Given the description of an element on the screen output the (x, y) to click on. 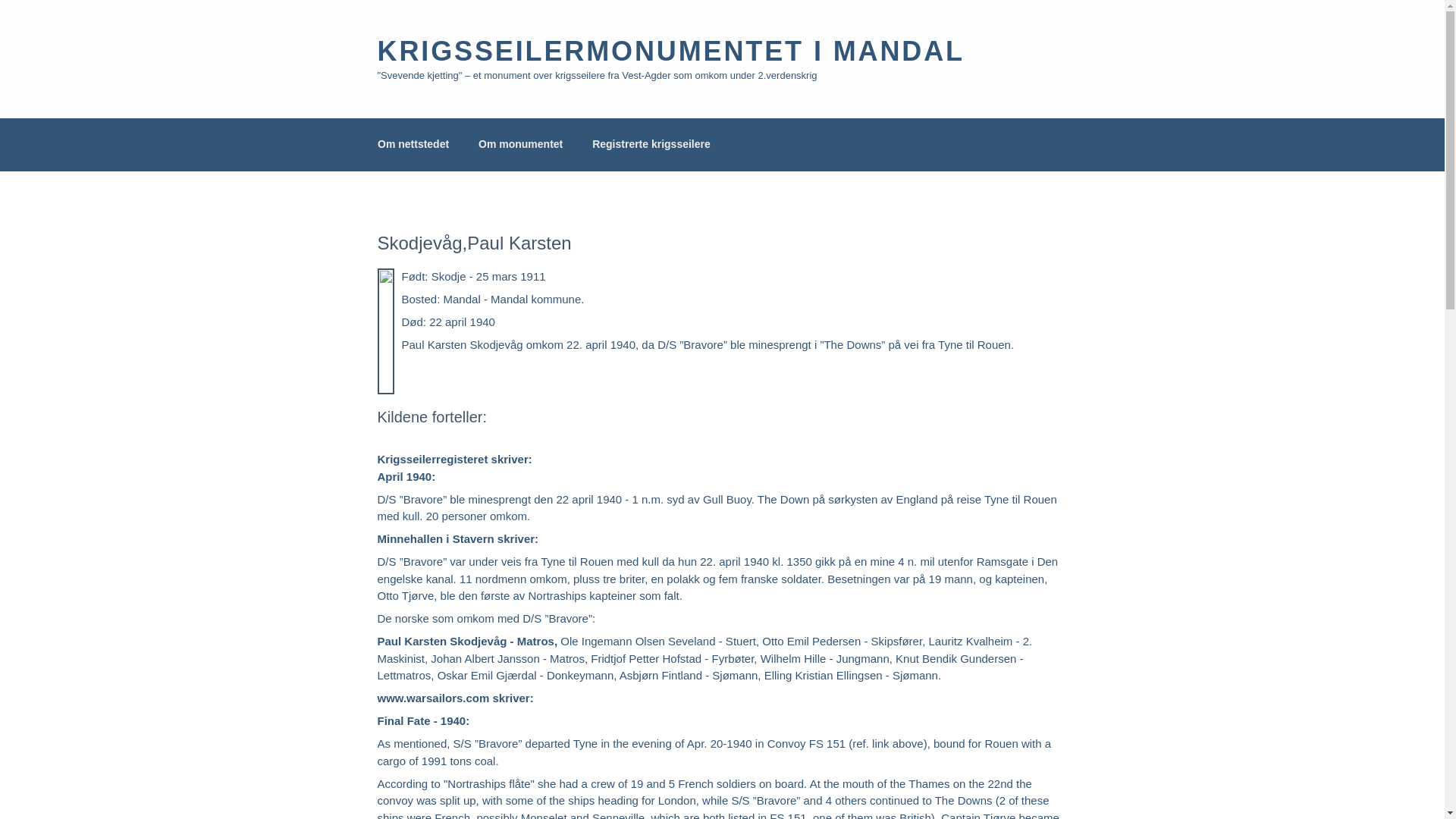
Om nettstedet (412, 144)
Om monumentet (520, 144)
Registrerte krigsseilere (651, 144)
KRIGSSEILERMONUMENTET I MANDAL (670, 51)
